Given the description of an element on the screen output the (x, y) to click on. 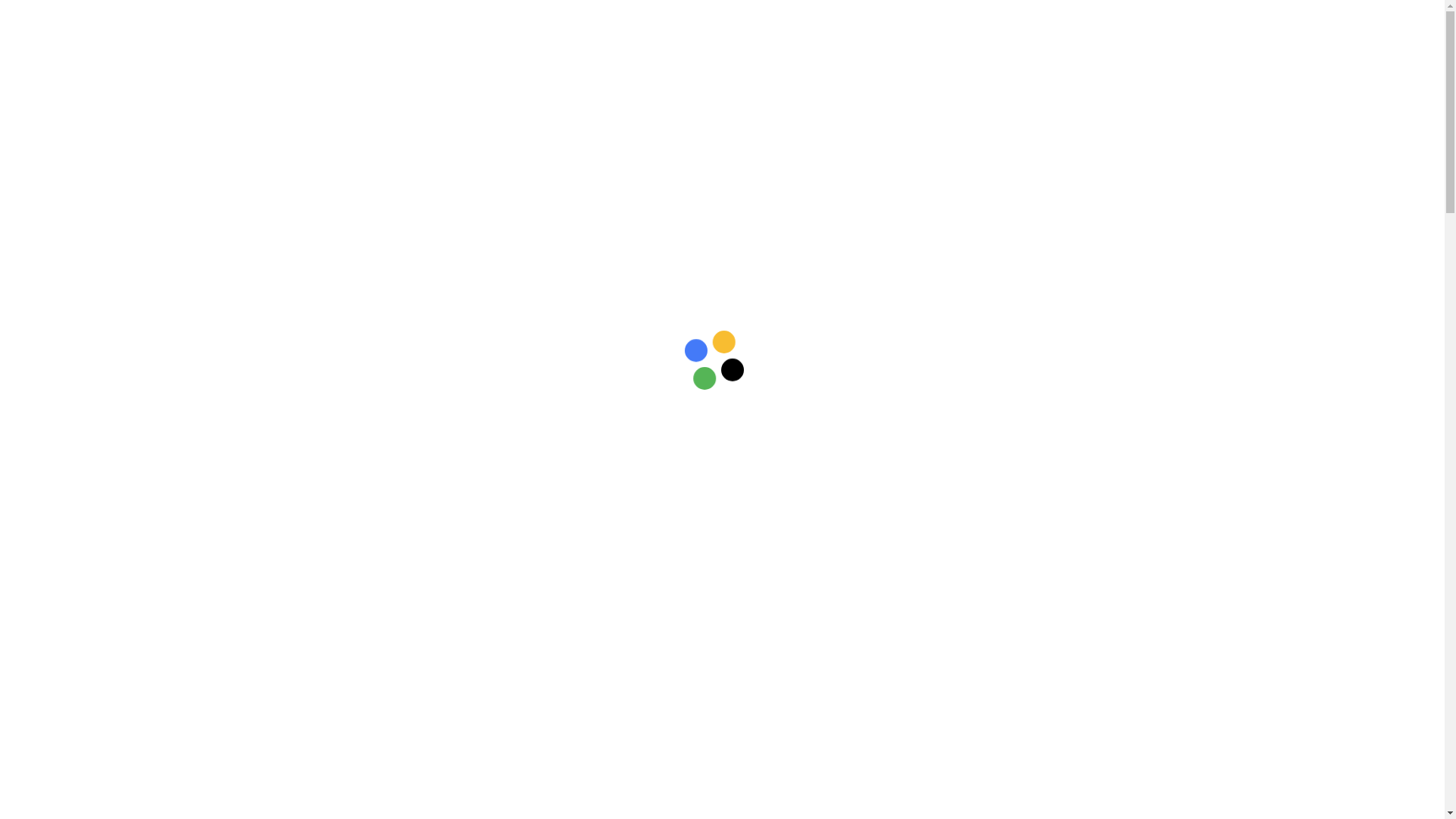
375 (29) 603 55 91 Element type: text (980, 250)
